Given the description of an element on the screen output the (x, y) to click on. 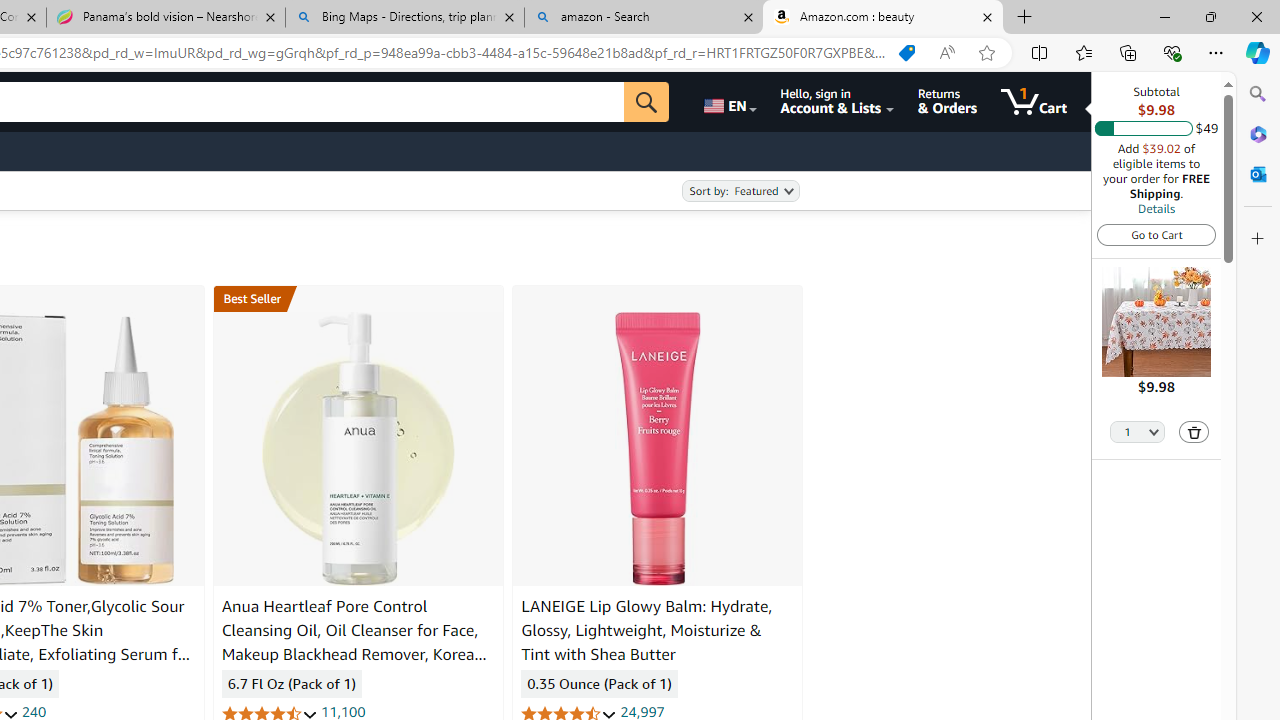
Sort by: (740, 191)
24,997 (642, 712)
Delete (1193, 431)
Delete (1194, 431)
Returns & Orders (946, 101)
Go (646, 101)
